Given the description of an element on the screen output the (x, y) to click on. 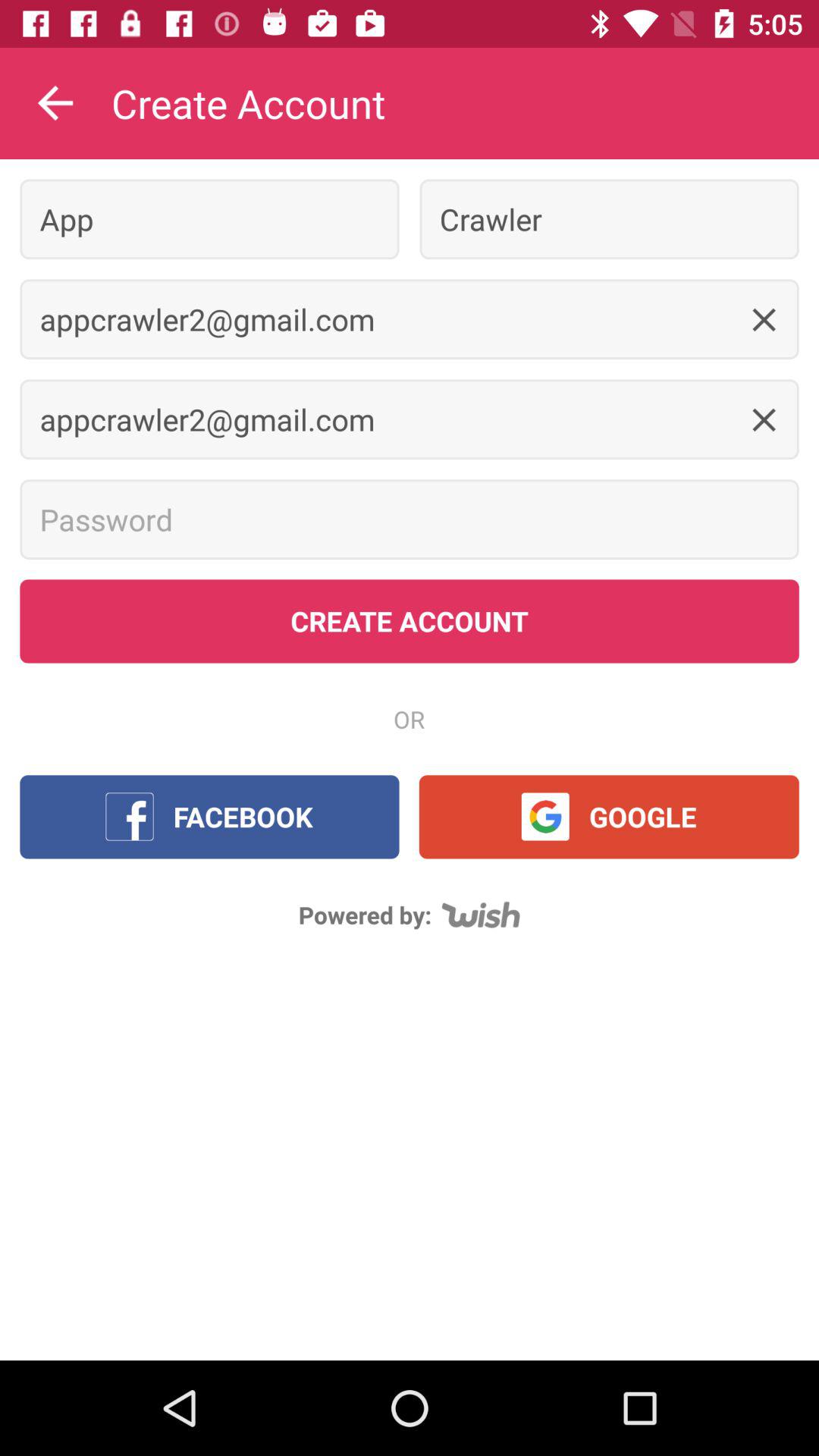
press the item above the appcrawler2@gmail.com icon (609, 219)
